Given the description of an element on the screen output the (x, y) to click on. 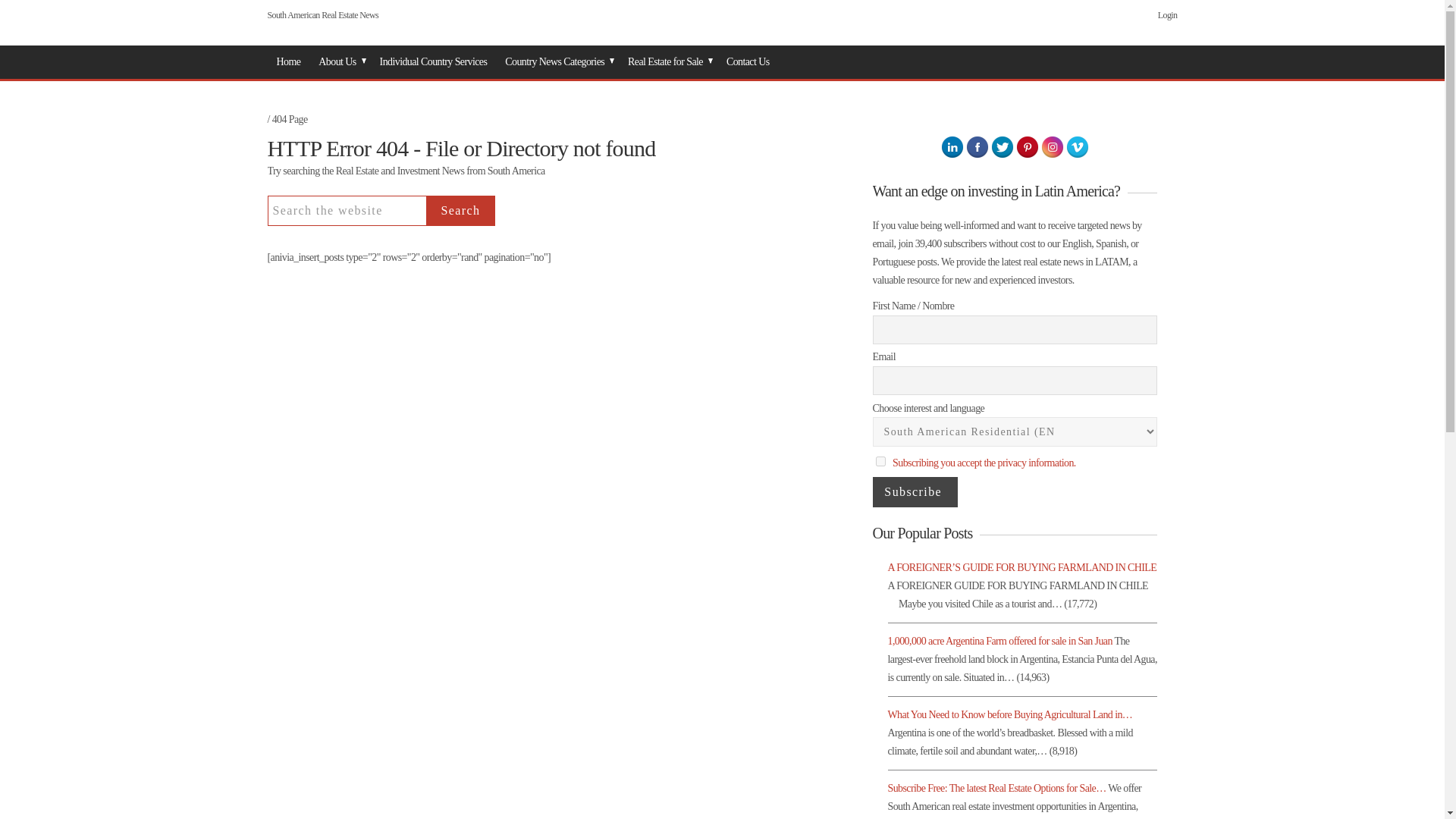
on (880, 461)
Have some questions ? (747, 61)
Search (460, 210)
Subscribe  (915, 491)
Login (1167, 14)
Who is Gateway to South America ? (338, 61)
Login (1167, 14)
Real Estate Property Web Site (667, 61)
Home (287, 61)
Search the website (346, 210)
